Given the description of an element on the screen output the (x, y) to click on. 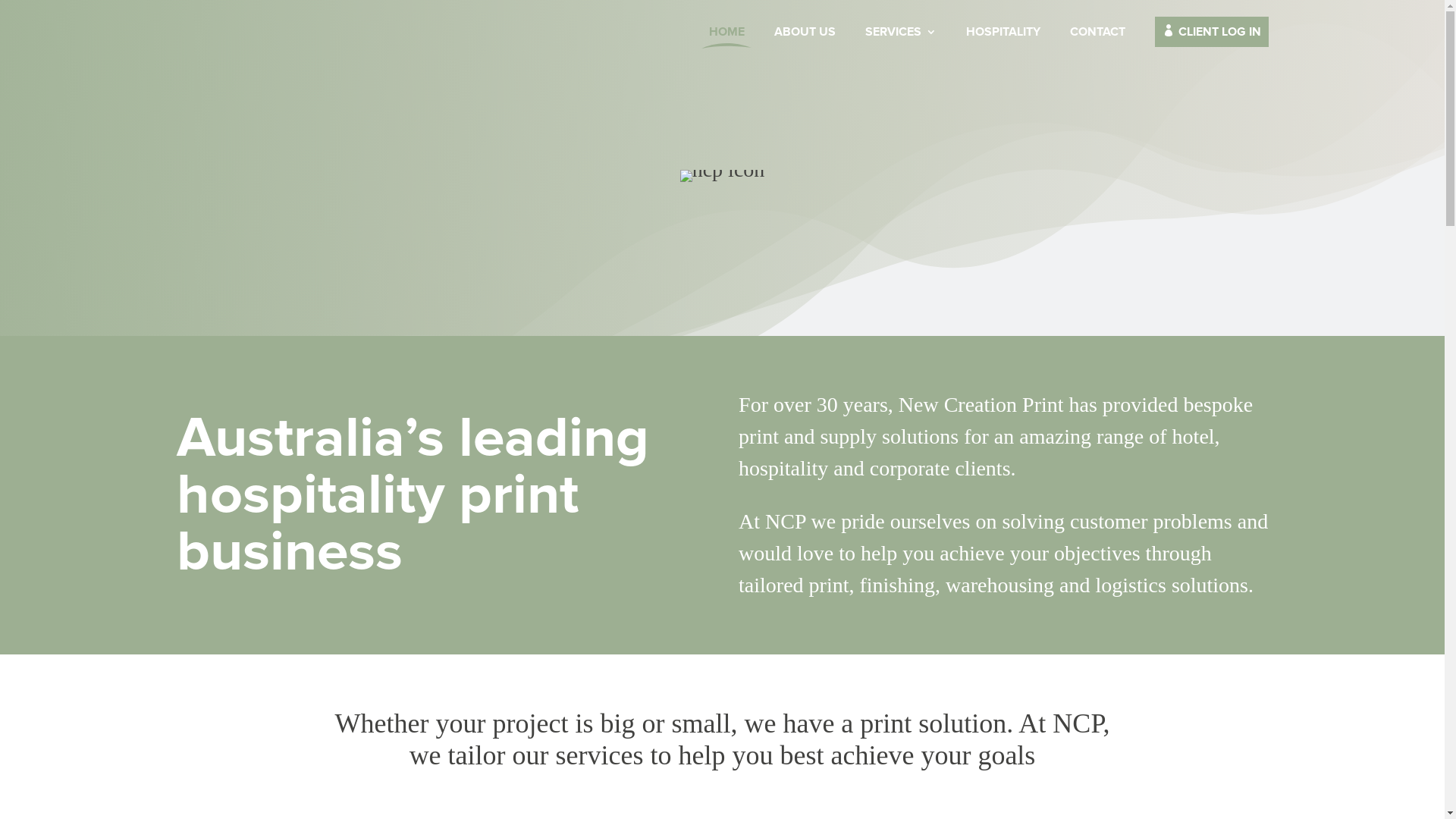
CONTACT Element type: text (1096, 44)
HOME Element type: text (725, 44)
HOSPITALITY Element type: text (1003, 44)
ncp icon Element type: hover (722, 175)
ABOUT US Element type: text (803, 44)
CLIENT LOG IN Element type: text (1210, 43)
SERVICES Element type: text (899, 44)
